Given the description of an element on the screen output the (x, y) to click on. 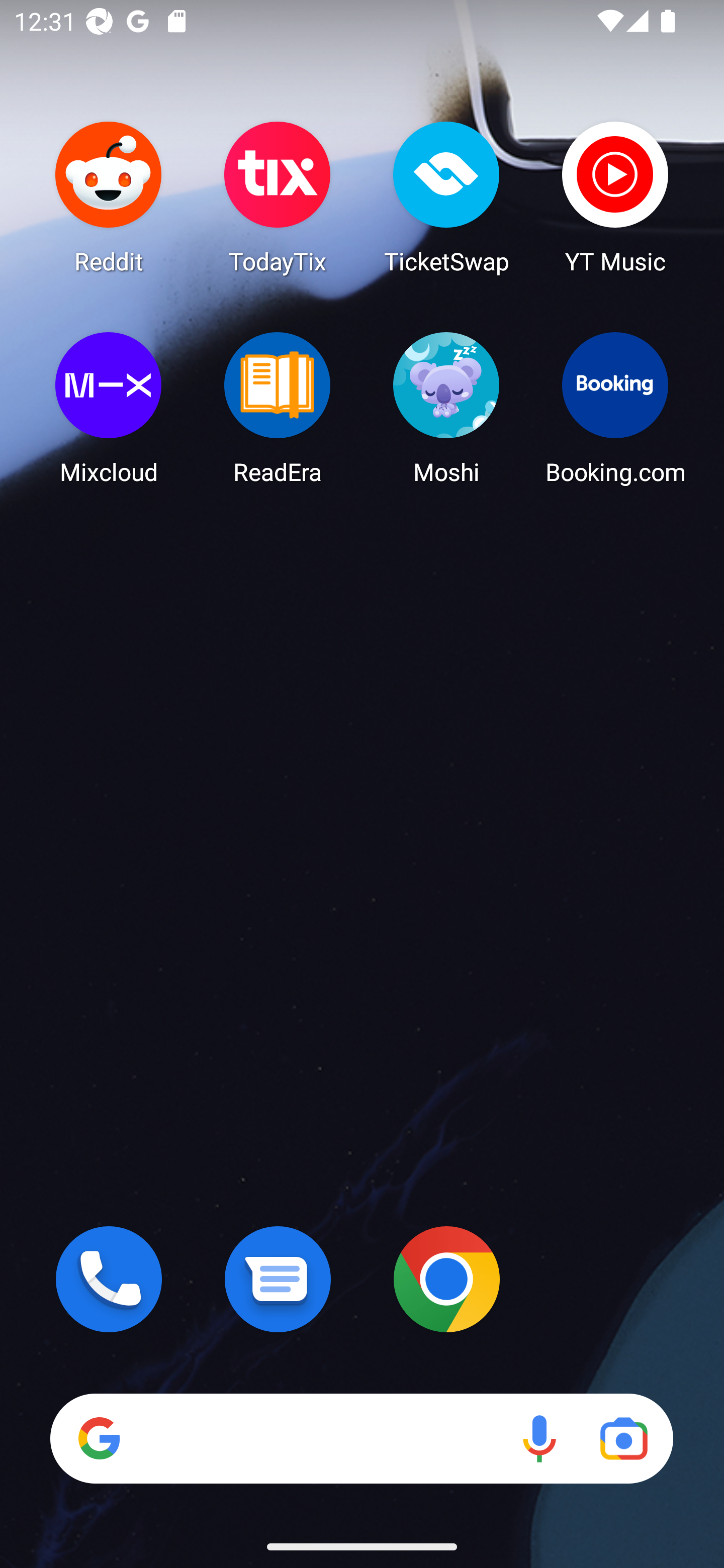
Reddit (108, 196)
TodayTix (277, 196)
TicketSwap (445, 196)
YT Music (615, 196)
Mixcloud (108, 407)
ReadEra (277, 407)
Moshi (445, 407)
Booking.com (615, 407)
Phone (108, 1279)
Messages (277, 1279)
Chrome (446, 1279)
Search Voice search Google Lens (361, 1438)
Voice search (539, 1438)
Google Lens (623, 1438)
